Given the description of an element on the screen output the (x, y) to click on. 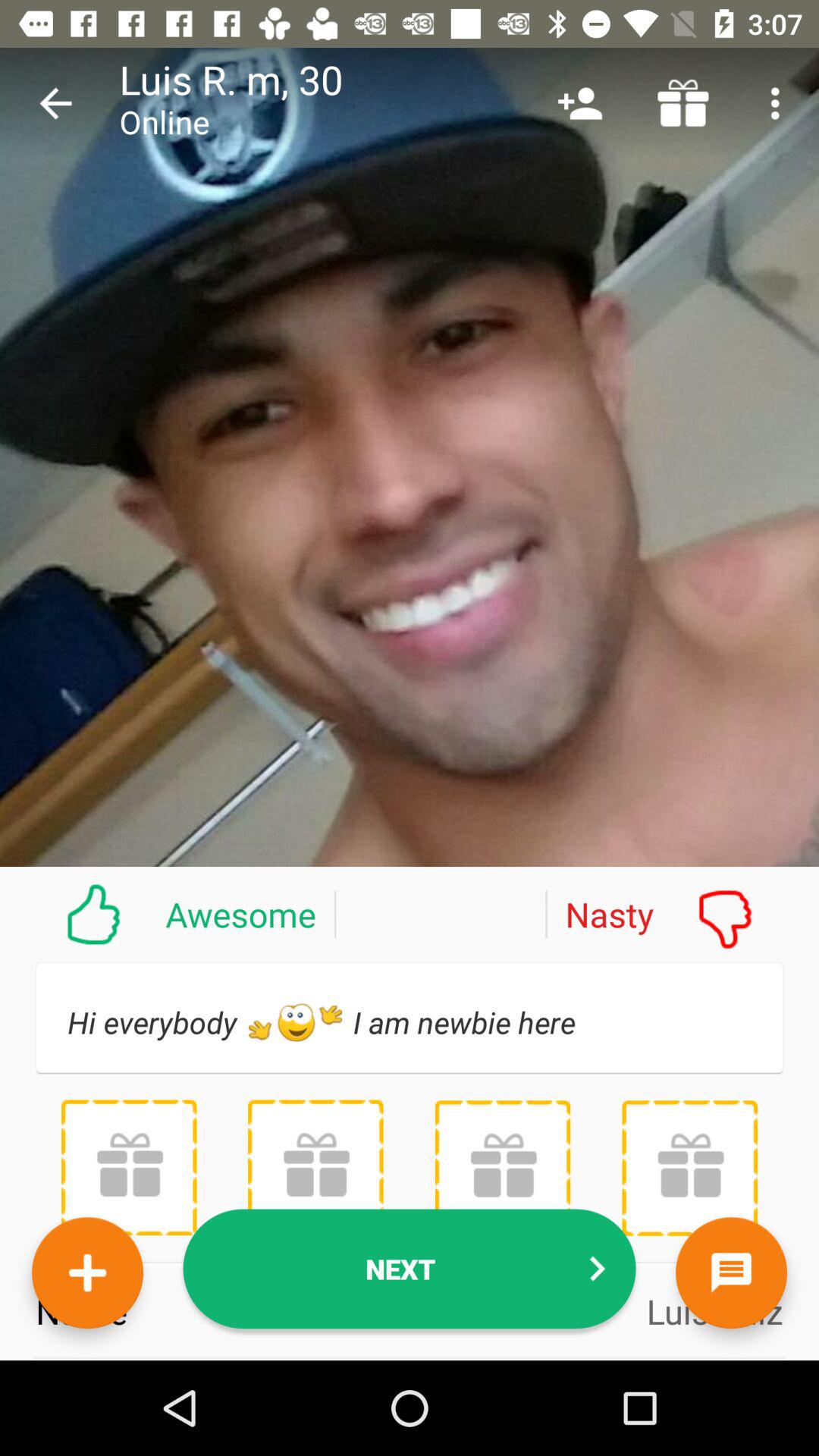
turn on the icon below hi everybody h item (315, 1167)
